Given the description of an element on the screen output the (x, y) to click on. 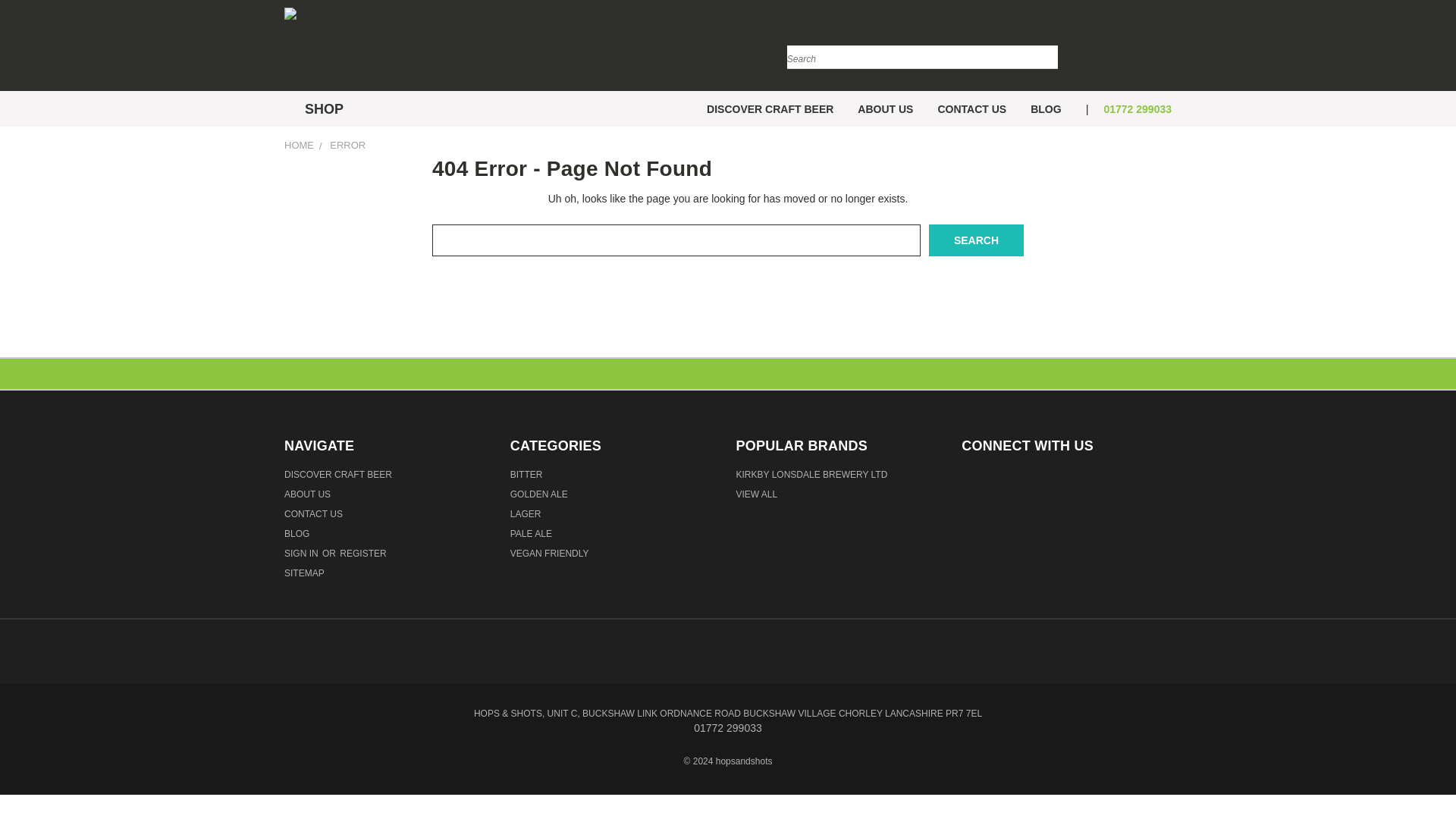
User Toolbox (1141, 48)
Search (975, 240)
Cart (1167, 48)
ABOUT US (884, 107)
DISCOVER CRAFT BEER (769, 107)
SHOP (319, 109)
Submit Search (1045, 47)
